Given the description of an element on the screen output the (x, y) to click on. 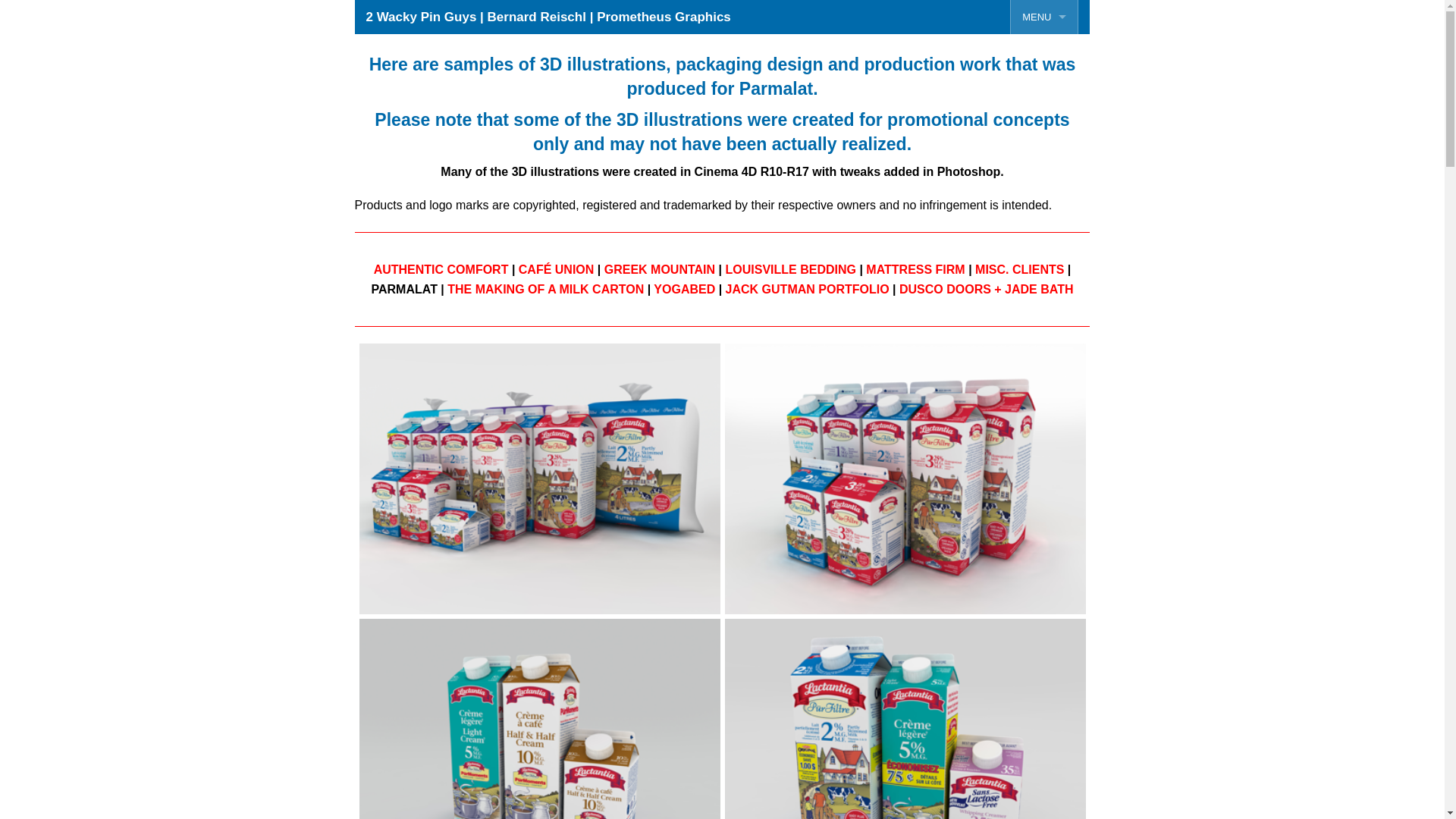
Bernard Reischl Element type: text (1043, 221)
YOGABED Element type: text (684, 288)
MISC. CLIENTS Element type: text (1019, 269)
Curriculum Vitae Element type: text (1043, 187)
JACK GUTMAN PORTFOLIO Element type: text (807, 288)
Louisville Bedding Element type: text (977, 221)
Mattress Firm Element type: text (977, 255)
TWPG Designs Element type: text (977, 187)
THE MAKING OF A MILK CARTON Element type: text (545, 288)
MENU Element type: text (1043, 17)
MonSFFA Images Element type: text (977, 153)
2 Wacky Pin Guys | Bernard Reischl | Prometheus Graphics Element type: text (548, 17)
Personal Portfolio Element type: text (1043, 85)
MISC. Art Element type: text (977, 85)
Professional Portfolio Element type: text (1043, 119)
Business Cards Element type: text (1043, 153)
AUTHENTIC COMFORT Element type: text (440, 269)
GREEK MOUNTAIN Element type: text (659, 269)
LOUISVILLE BEDDING Element type: text (789, 269)
Contact Me Element type: text (1043, 255)
TWPG Portfolio Element type: text (1043, 51)
MISC. Logo Designs Element type: text (977, 119)
MATTRESS FIRM Element type: text (915, 269)
DUSCO DOORS + JADE BATH Element type: text (986, 288)
